Given the description of an element on the screen output the (x, y) to click on. 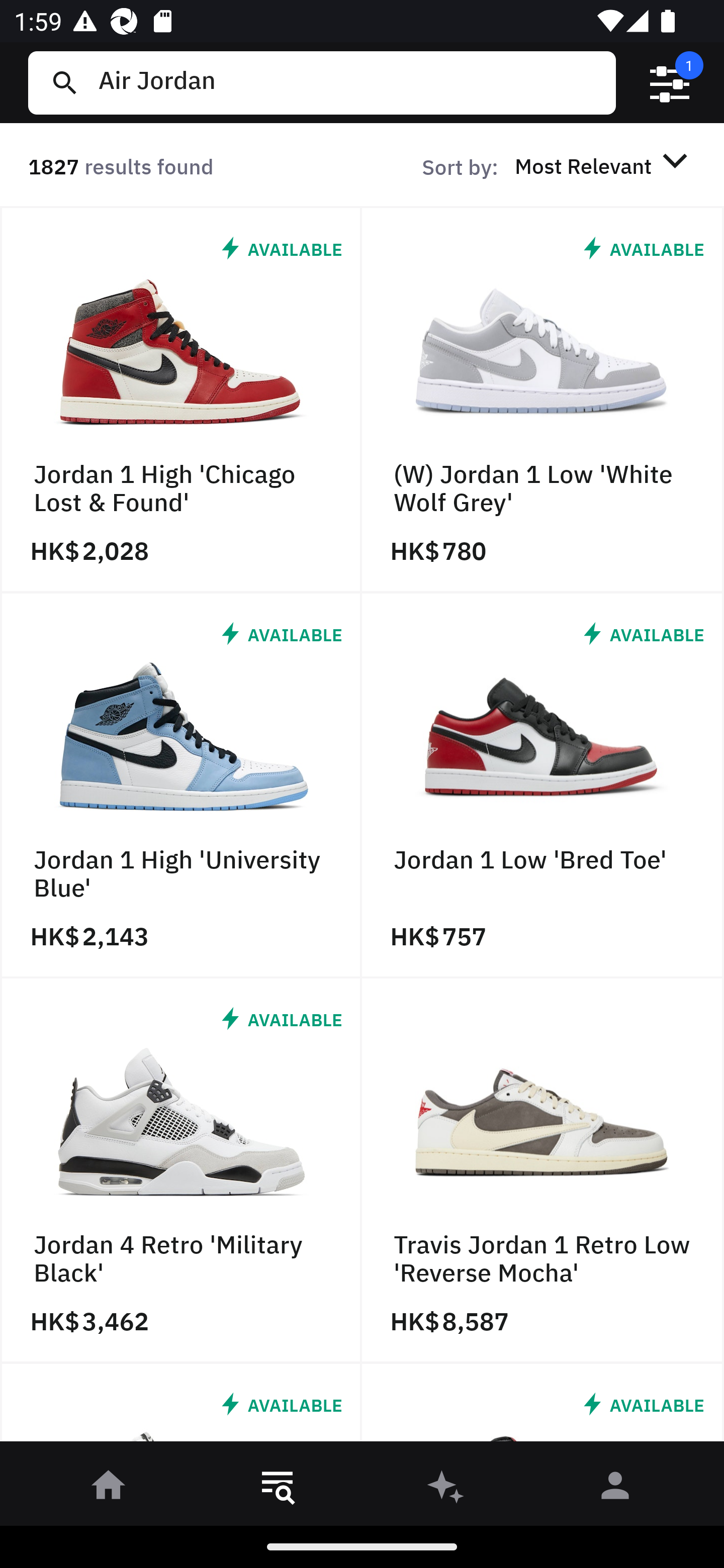
Air Jordan (349, 82)
 (669, 82)
Most Relevant  (604, 165)
 AVAILABLE Jordan 1 Low 'Bred Toe' HK$ 757 (543, 785)
󰋜 (108, 1488)
󱎸 (277, 1488)
󰫢 (446, 1488)
󰀄 (615, 1488)
